Given the description of an element on the screen output the (x, y) to click on. 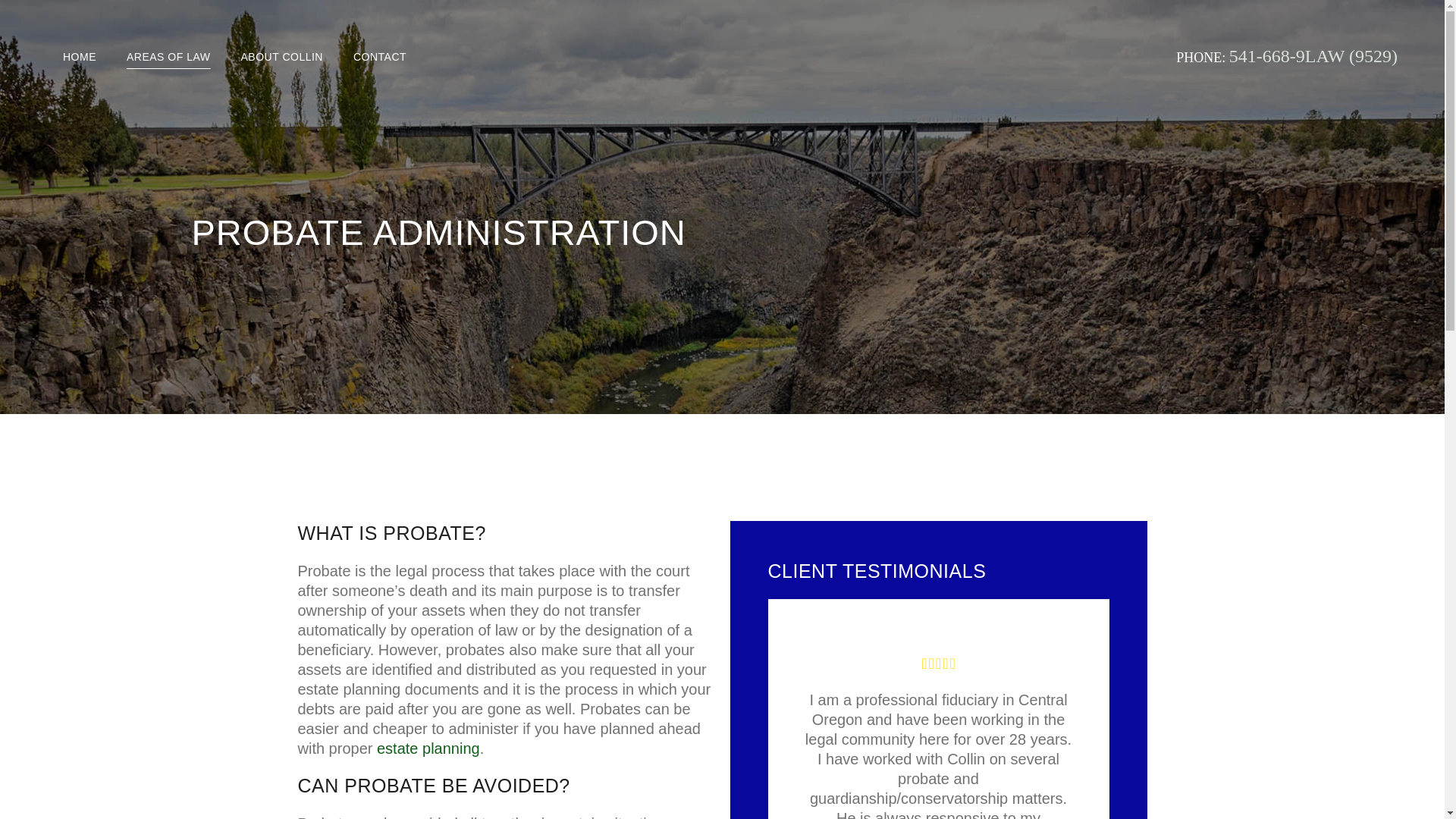
estate planning (428, 748)
AREAS OF LAW (168, 56)
ABOUT COLLIN (281, 56)
